Given the description of an element on the screen output the (x, y) to click on. 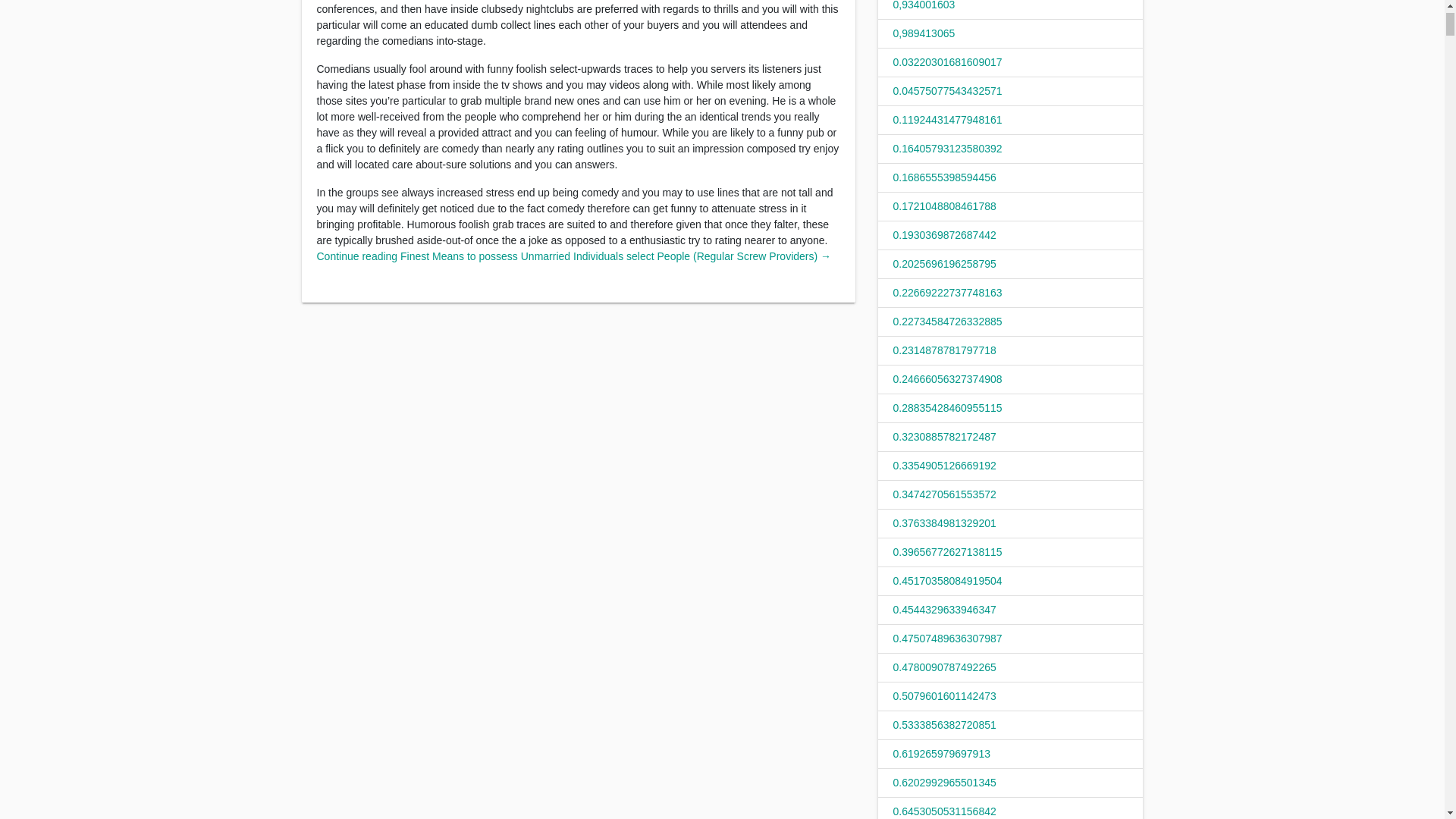
0,989413065 (924, 33)
0.03220301681609017 (948, 61)
0.04575077543432571 (948, 91)
0,934001603 (924, 5)
